Given the description of an element on the screen output the (x, y) to click on. 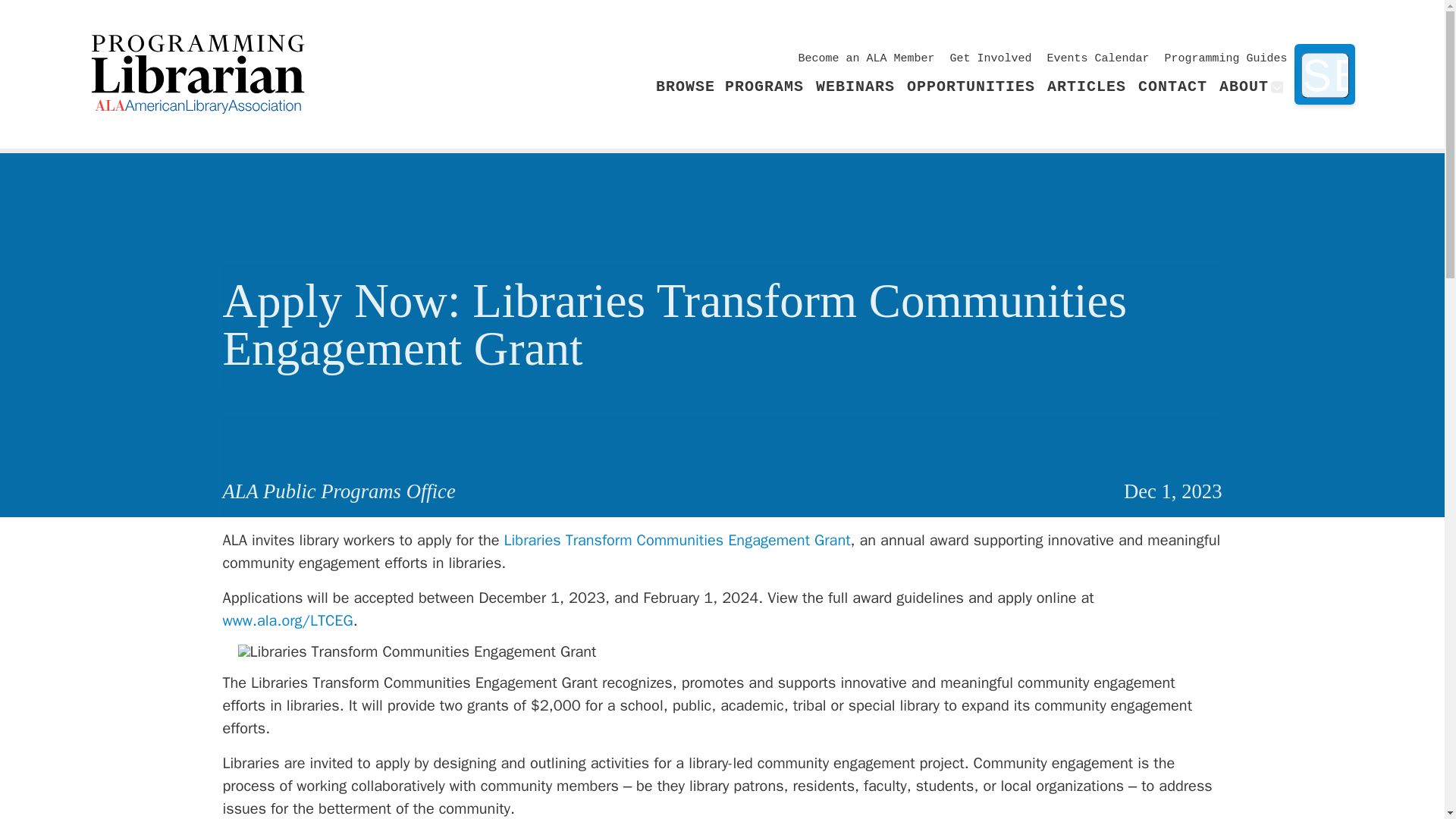
ARTICLES (1085, 86)
Programming Guides (1225, 58)
Search (1324, 76)
Become an ALA Member (865, 58)
OPPORTUNITIES (971, 86)
BROWSE PROGRAMS (729, 86)
Get Involved (989, 58)
ABOUT (1244, 86)
Libraries Transform Communities Engagement Grant (676, 539)
